Given the description of an element on the screen output the (x, y) to click on. 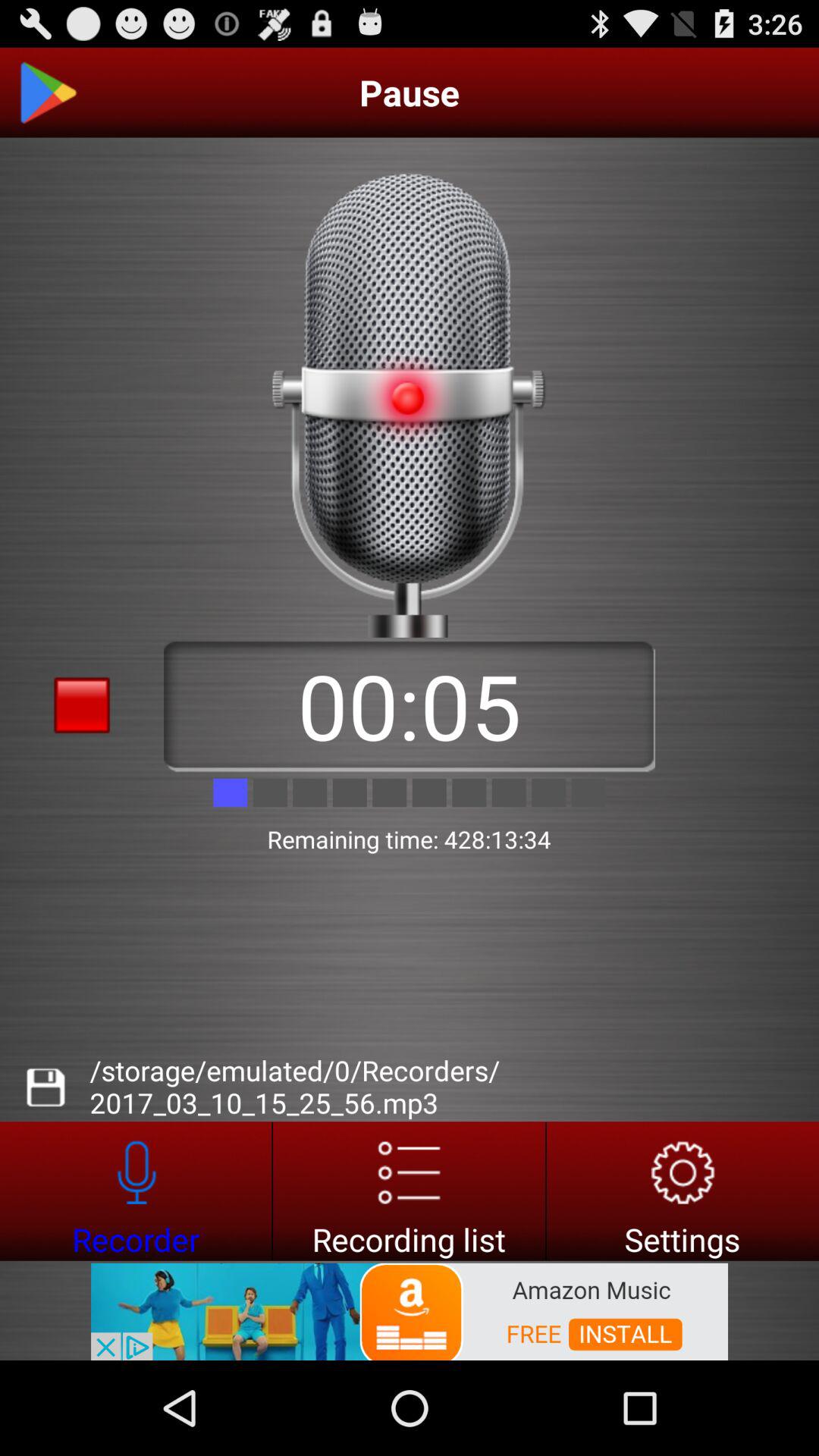
application settings (682, 1190)
